Given the description of an element on the screen output the (x, y) to click on. 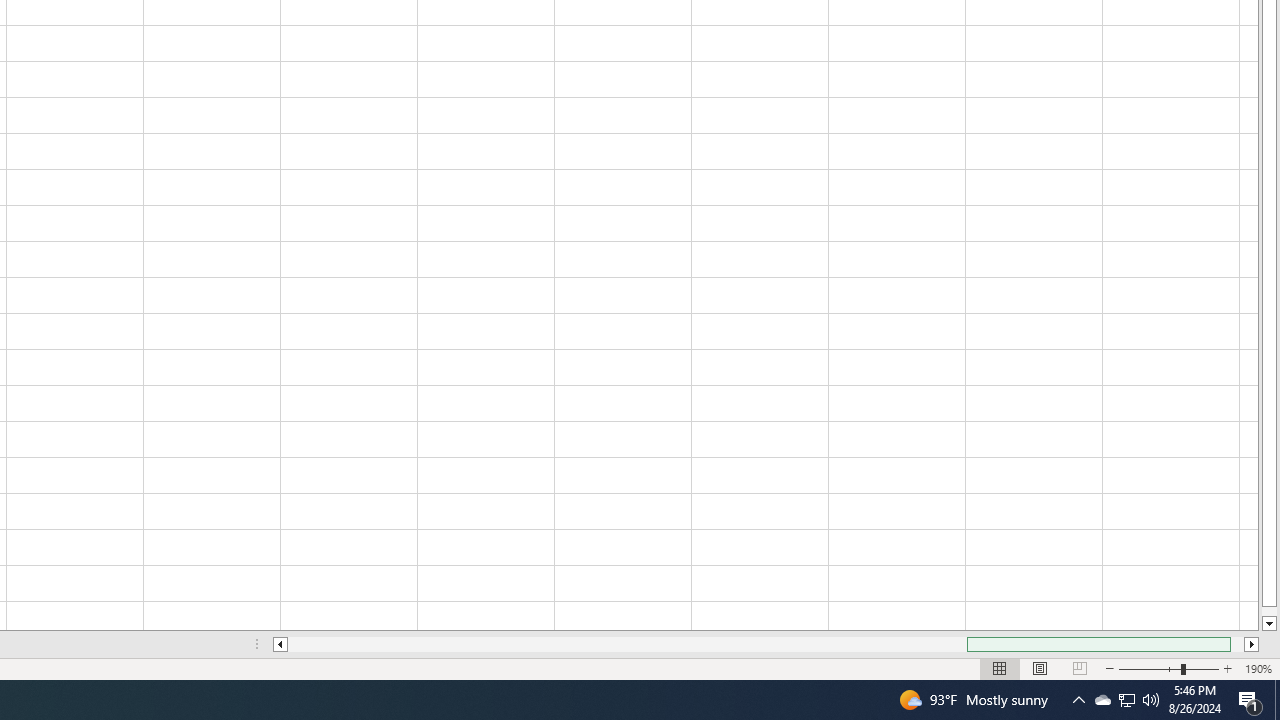
Column right (1252, 644)
Page left (627, 644)
Page right (1237, 644)
Page down (1268, 611)
Normal (1000, 668)
Zoom In (1227, 668)
Page Break Preview (1079, 668)
Line down (1268, 624)
Zoom Out (1149, 668)
Class: NetUIScrollBar (765, 644)
Column left (279, 644)
Page Layout (1039, 668)
Zoom (1168, 668)
